Given the description of an element on the screen output the (x, y) to click on. 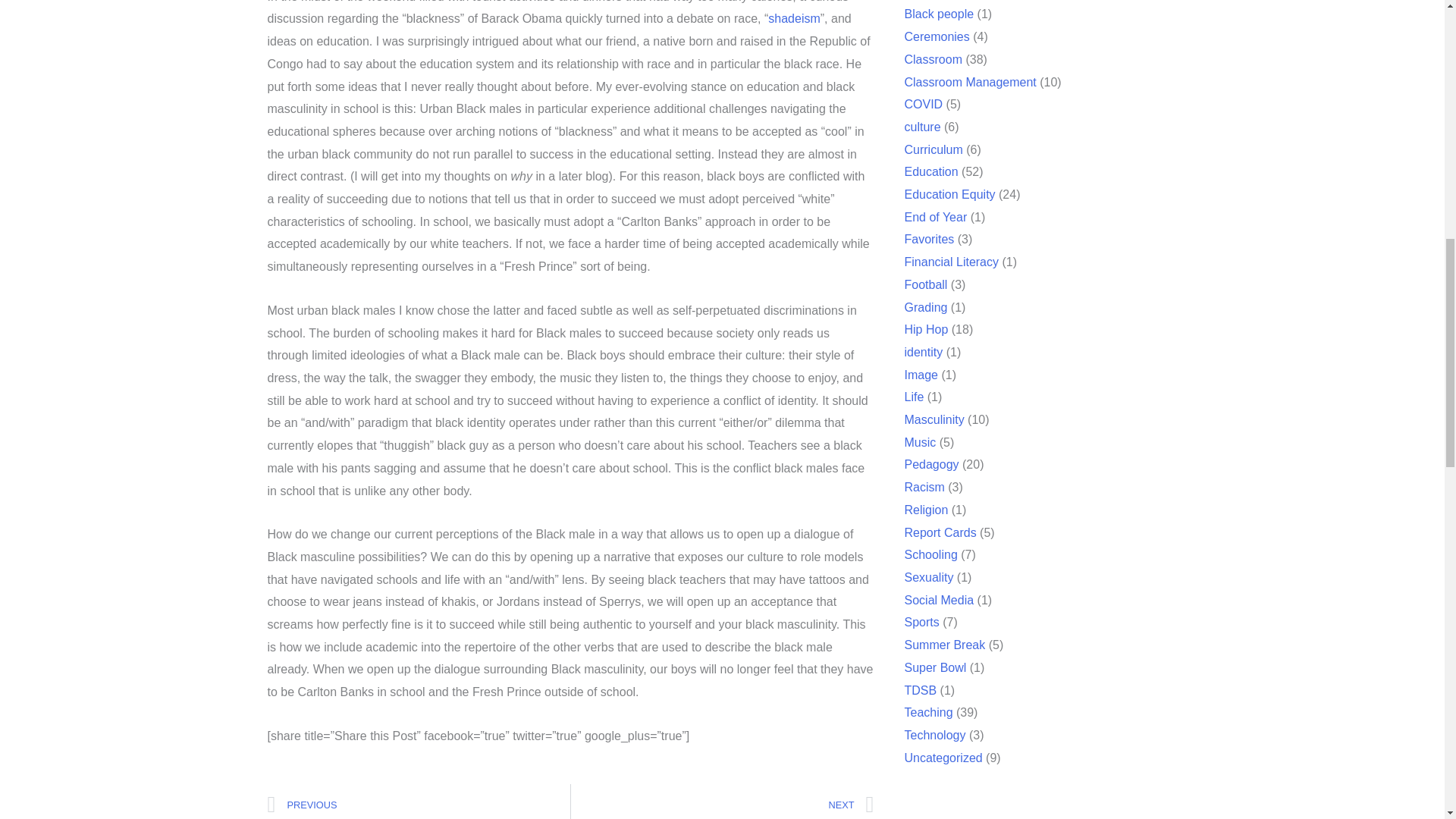
Classroom Management (973, 82)
End of Year (936, 216)
culture (923, 126)
BLACK MEN (316, 294)
MASCULINITY (518, 198)
Ceremonies (942, 36)
Education (931, 171)
Shadeism documentary (793, 140)
MUSIC (615, 137)
Classroom (937, 59)
HIP HOP (413, 229)
Curriculum (934, 149)
COVID (924, 103)
Black people (946, 13)
February 17, 2015 (316, 169)
